Given the description of an element on the screen output the (x, y) to click on. 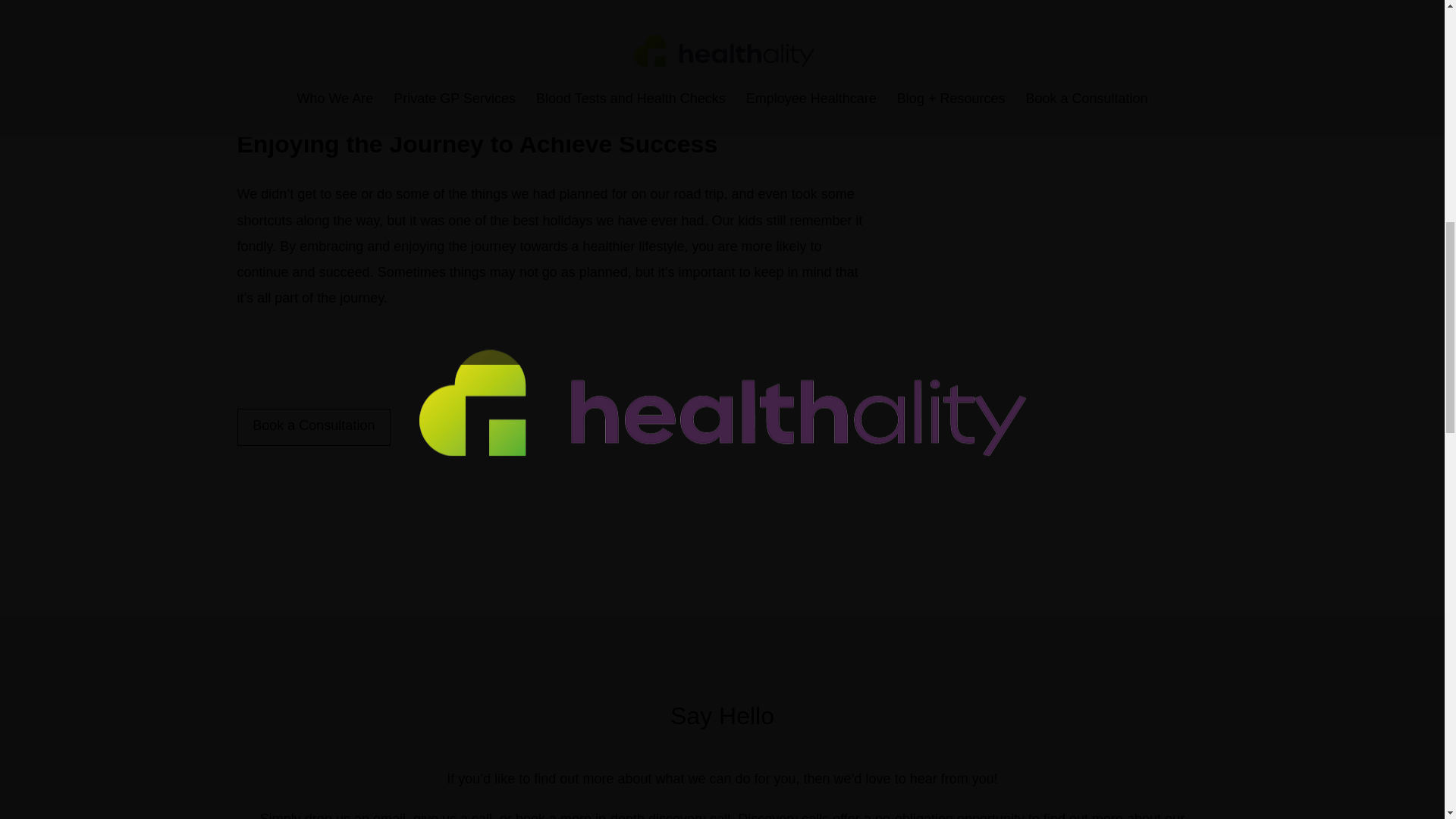
Book a Consultation (312, 426)
